Given the description of an element on the screen output the (x, y) to click on. 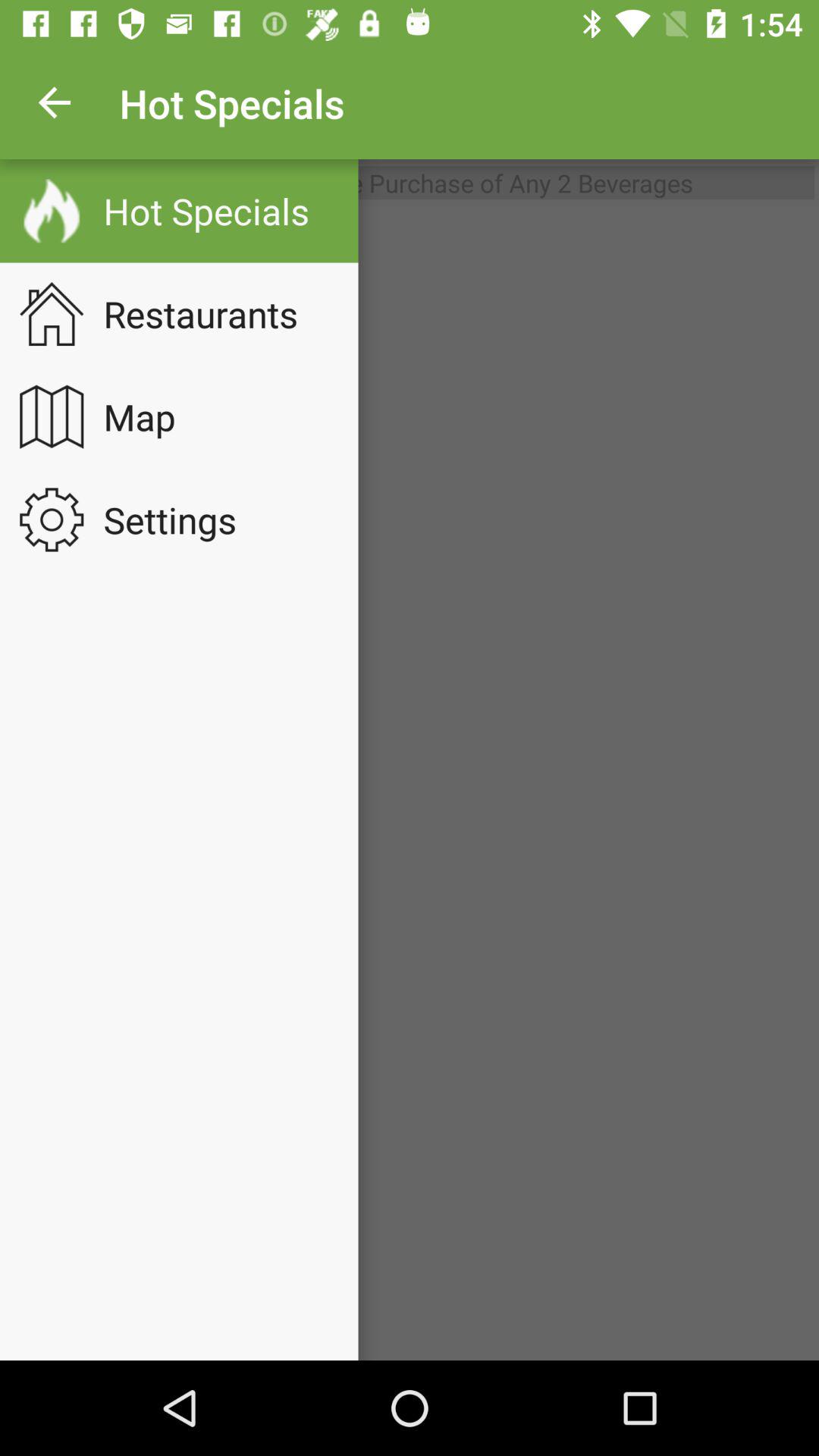
click the restaurants item (210, 313)
